Given the description of an element on the screen output the (x, y) to click on. 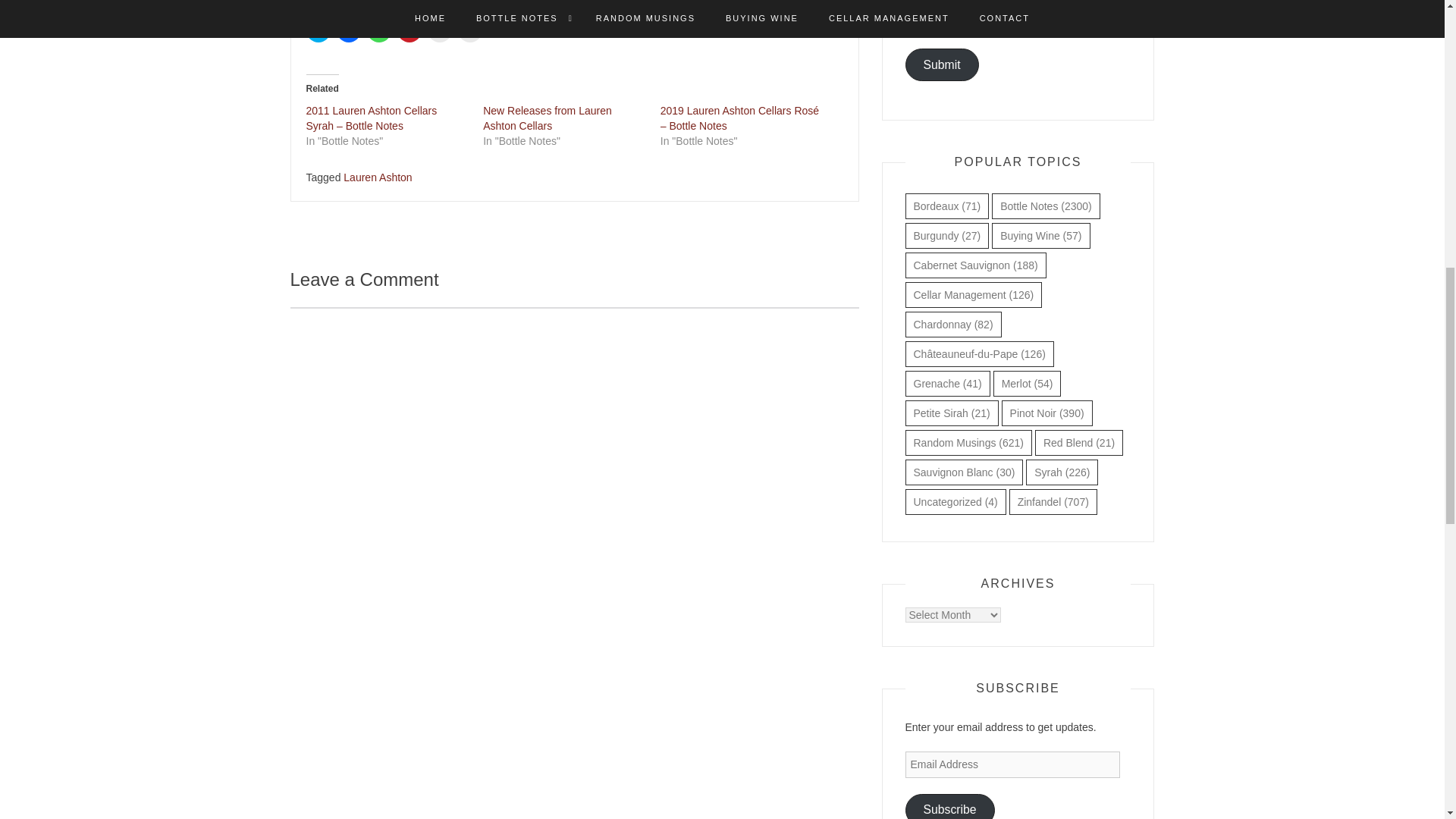
Submit (941, 64)
New Releases from Lauren Ashton Cellars (547, 117)
Lauren Ashton (377, 177)
Click to print (469, 30)
Click to share on WhatsApp (378, 30)
Click to share on Pinterest (409, 30)
Click to share on Facebook (348, 30)
Click to email a link to a friend (439, 30)
Click to share on Twitter (317, 30)
New Releases from Lauren Ashton Cellars (547, 117)
